Given the description of an element on the screen output the (x, y) to click on. 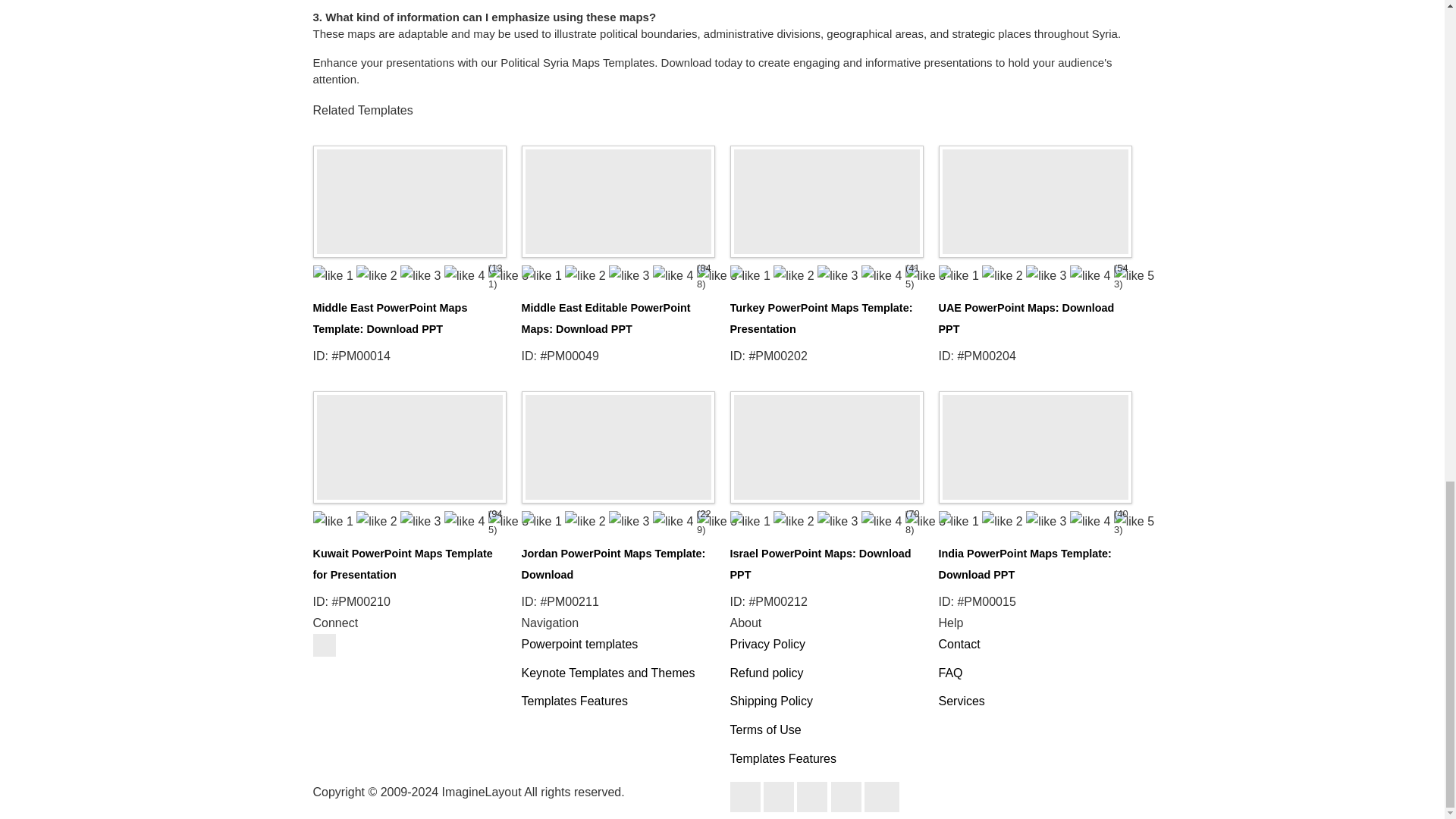
Middle East Editable PowerPoint Maps: Download PPT (605, 318)
Middle East PowerPoint Maps Template: Download PPT (390, 318)
Middle East Editable PowerPoint Maps: Download PPT (605, 318)
Middle East PowerPoint Maps Template: Download PPT (409, 196)
5 out of 5 stars (397, 275)
4 out of 5 stars (814, 275)
Middle East Editable PowerPoint Maps: Download PPT (617, 196)
Turkey PowerPoint Maps Template: Presentation (820, 318)
Middle East PowerPoint Maps Template: Download PPT (390, 318)
5 out of 5 stars (606, 275)
